Given the description of an element on the screen output the (x, y) to click on. 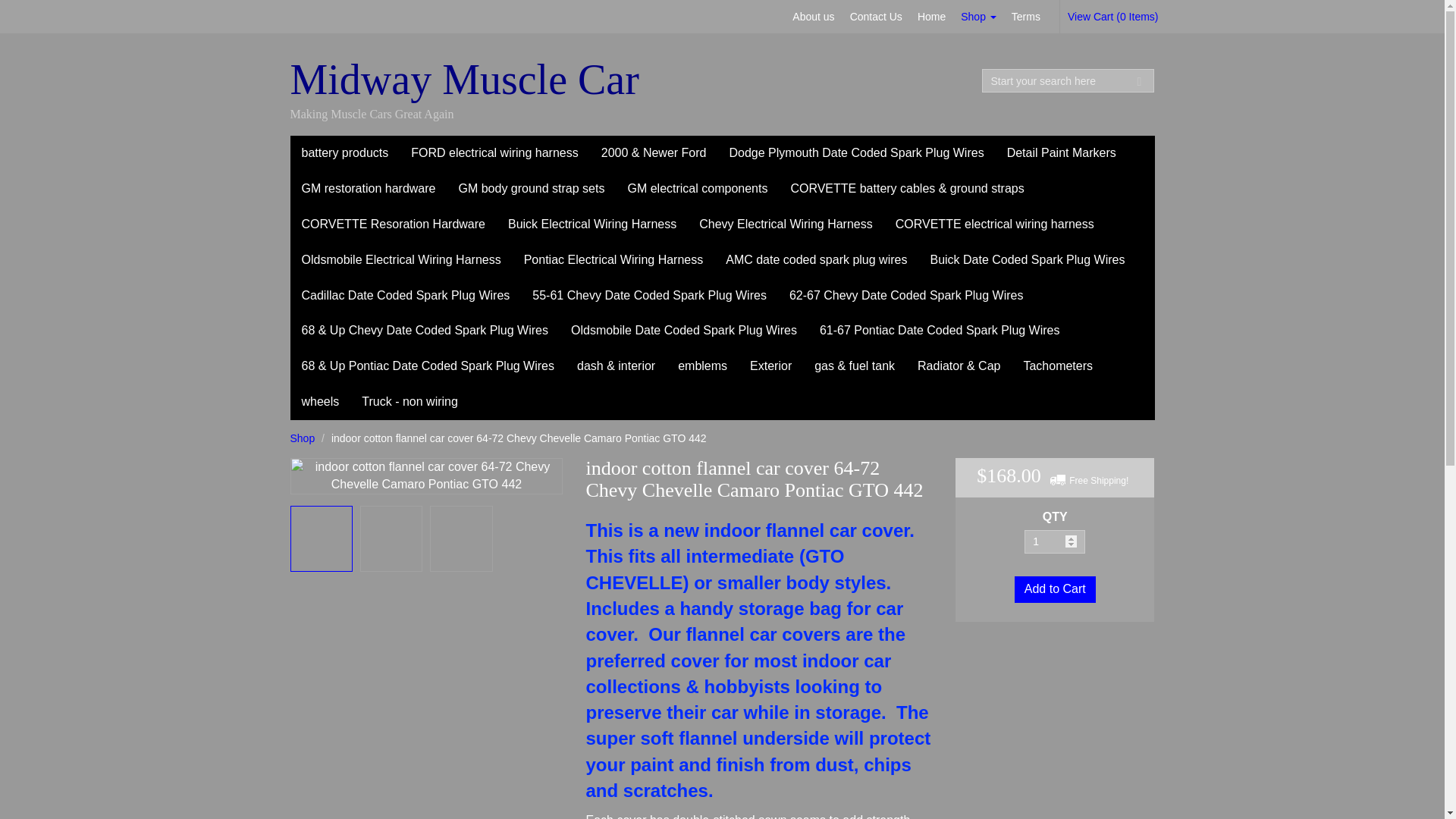
Add to Cart (1055, 589)
Home (931, 16)
Contact Us (876, 16)
Shop (978, 16)
1 (1054, 541)
About us (812, 16)
